Given the description of an element on the screen output the (x, y) to click on. 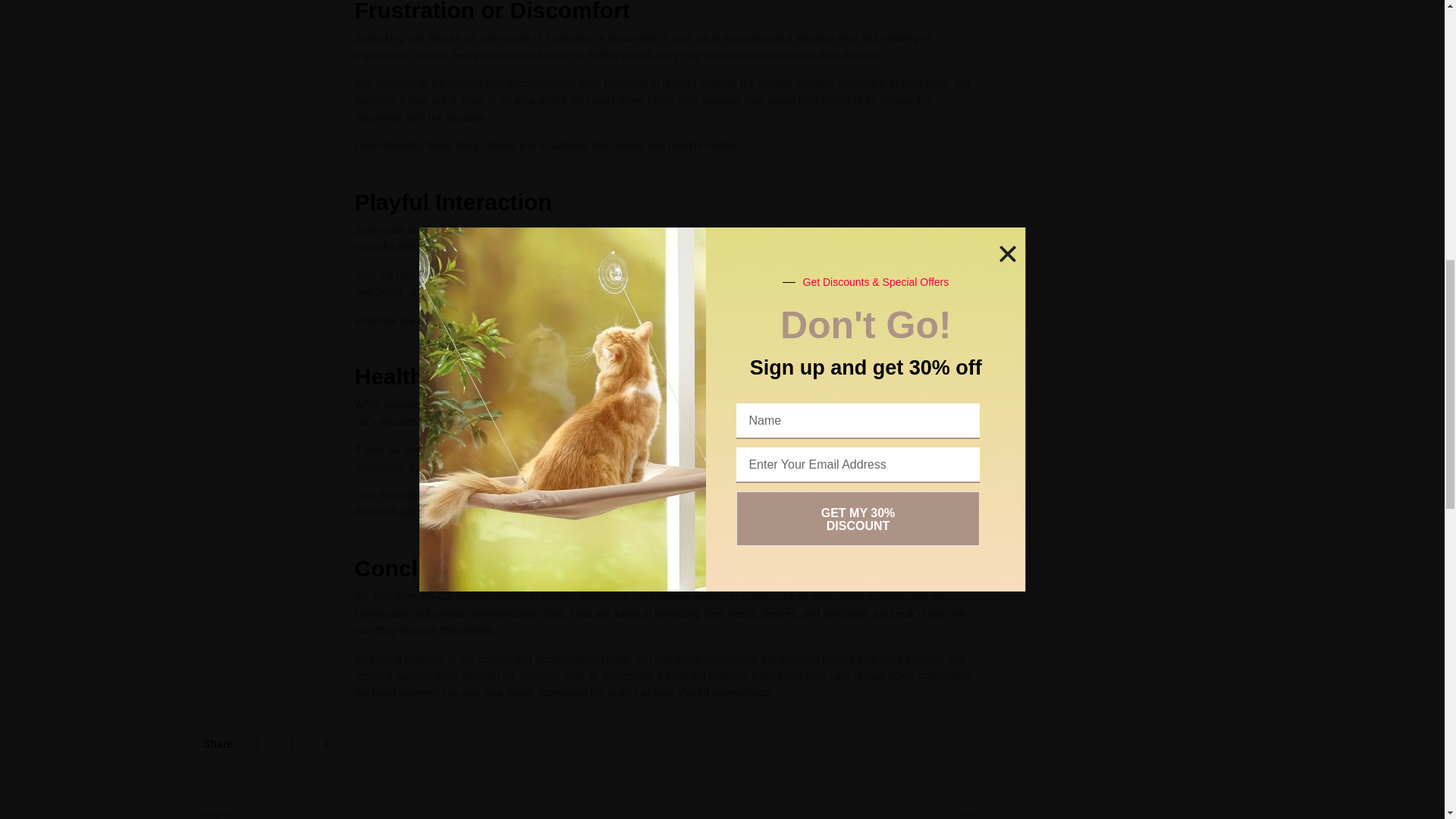
Facebook (258, 743)
LinkedIn (794, 813)
Twitter (392, 813)
